Given the description of an element on the screen output the (x, y) to click on. 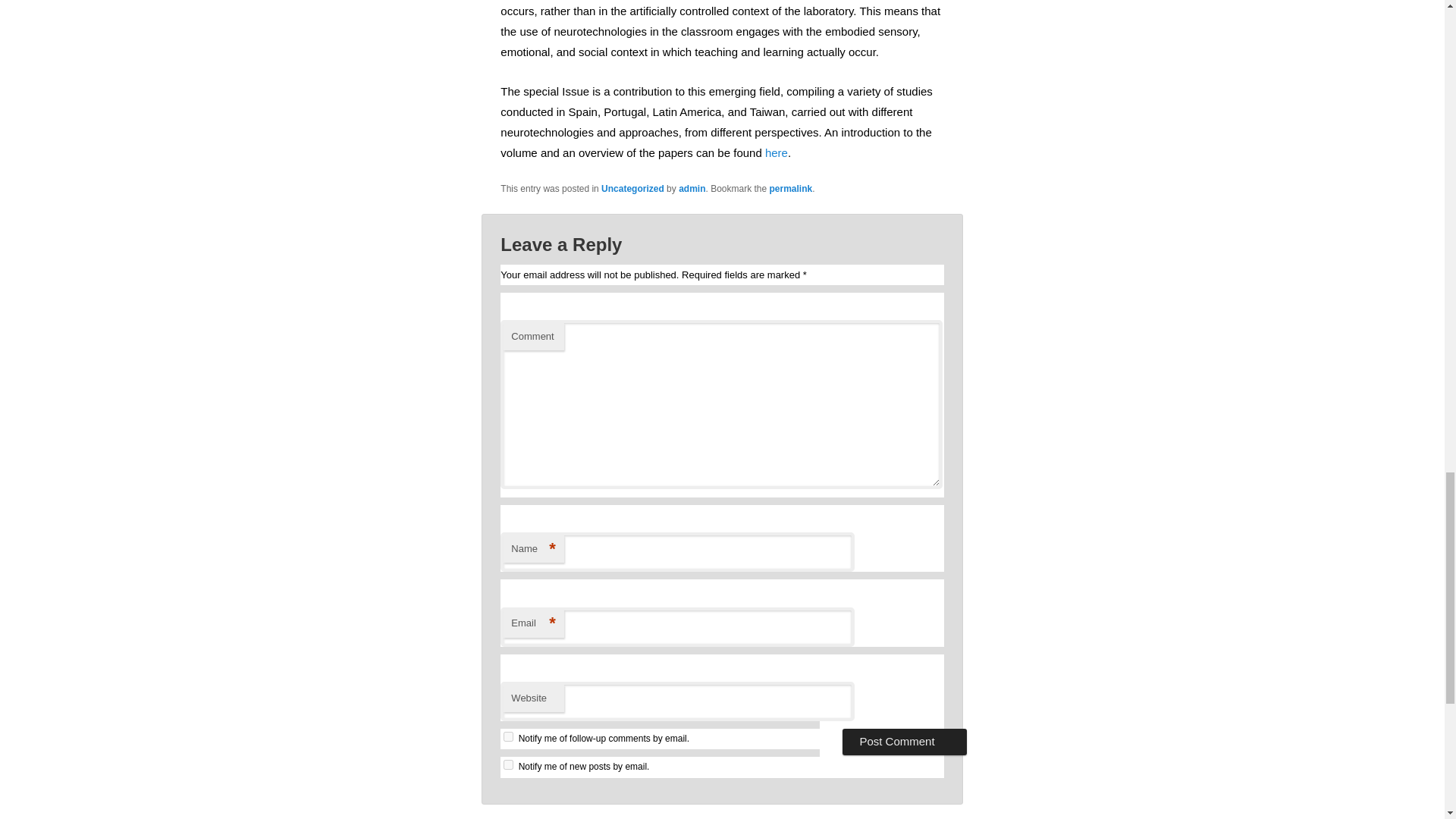
subscribe (508, 737)
subscribe (508, 764)
Permalink to Using neurotechnology in the classroom (791, 188)
Post Comment (904, 741)
